Given the description of an element on the screen output the (x, y) to click on. 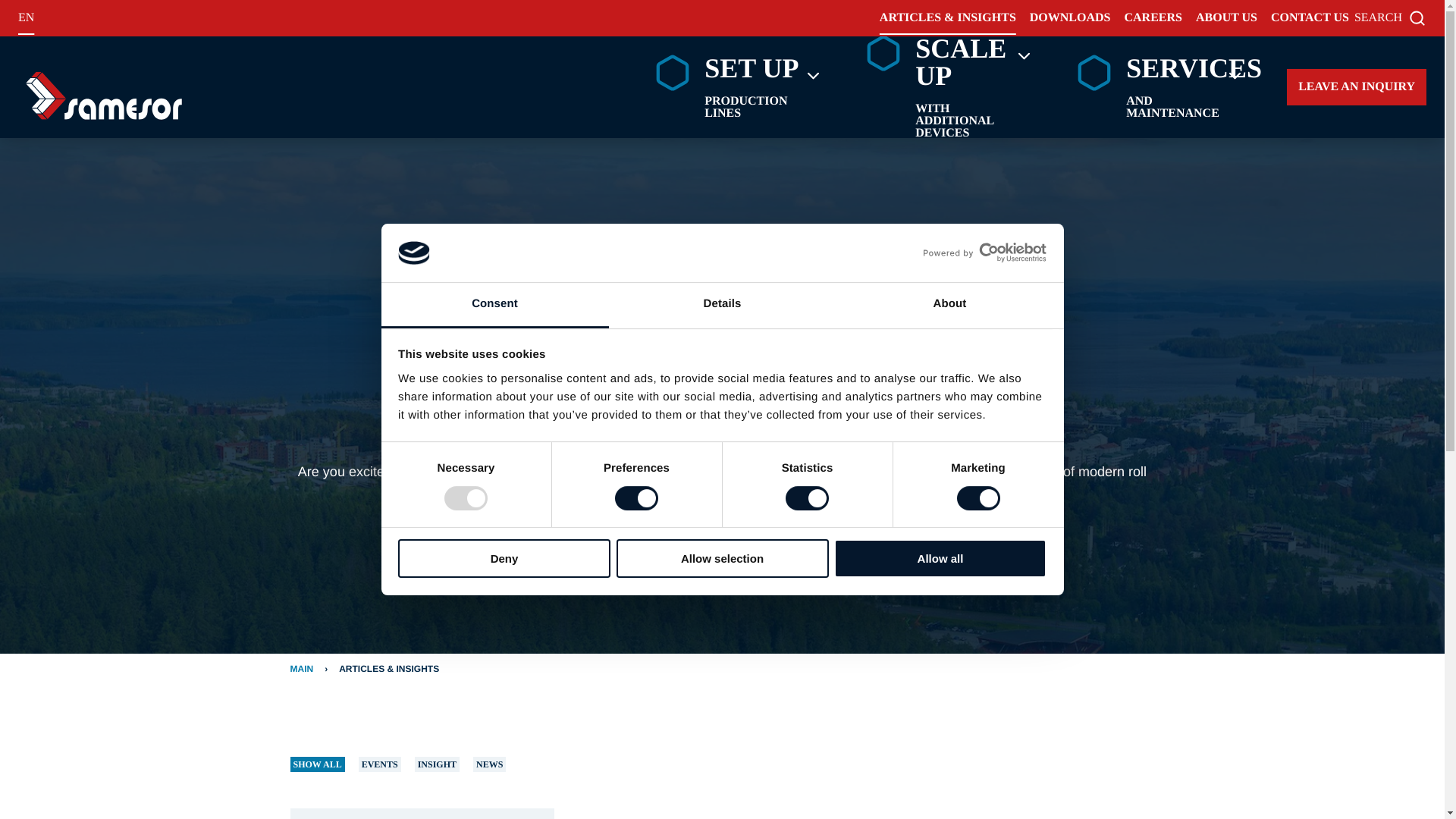
Allow selection (721, 558)
Details (721, 305)
About (948, 305)
Allow all (940, 558)
Samesor (103, 95)
Consent (494, 305)
Deny (503, 558)
